Given the description of an element on the screen output the (x, y) to click on. 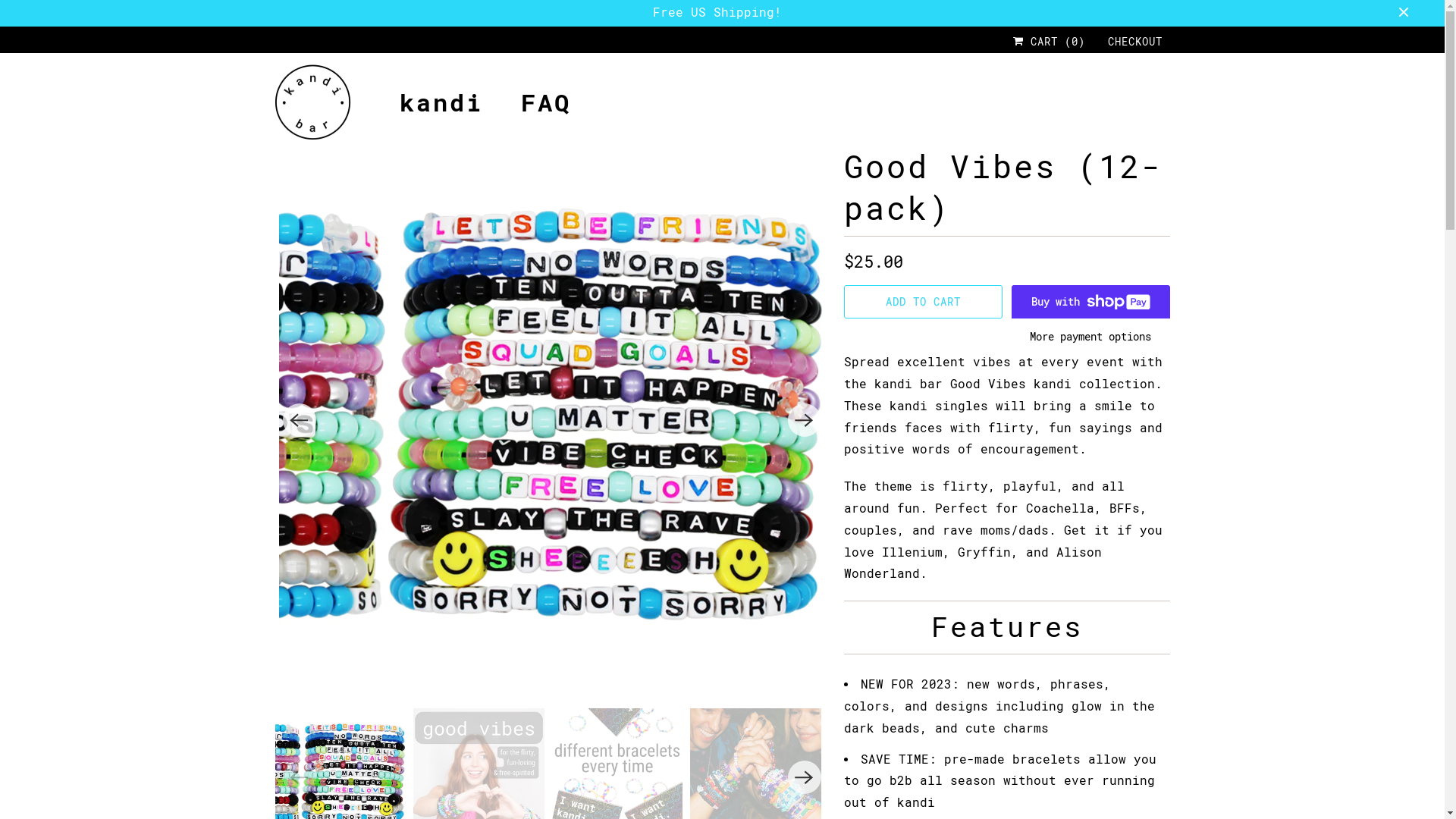
kandi bar Element type: hover (312, 102)
ADD TO CART Element type: text (922, 301)
More payment options Element type: text (1089, 341)
kandi Element type: text (440, 103)
Good Vibes (12-pack) Element type: hover (552, 420)
CART (0) Element type: text (1049, 41)
FAQ Element type: text (545, 103)
CHECKOUT Element type: text (1134, 41)
